Given the description of an element on the screen output the (x, y) to click on. 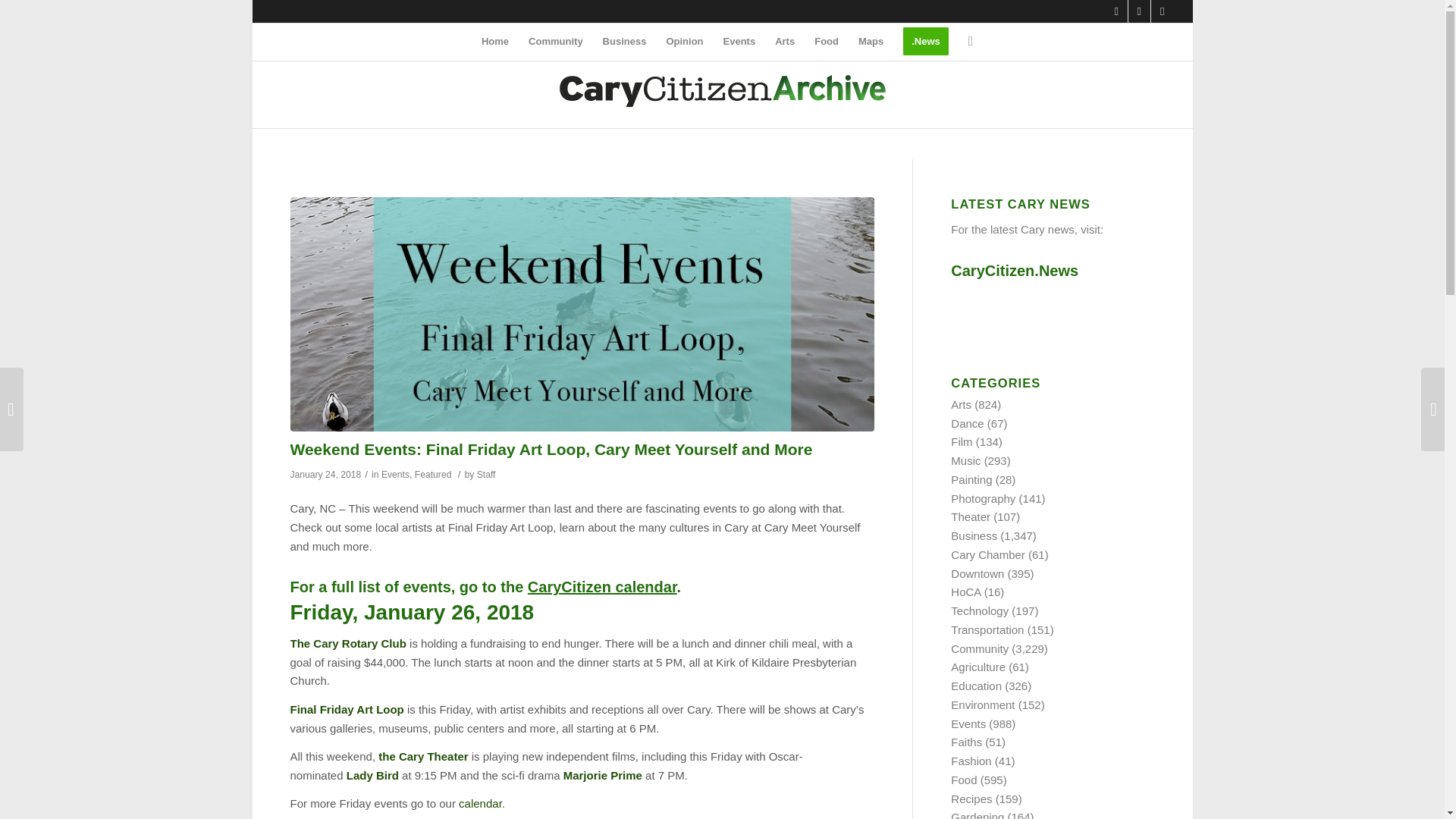
Maps (870, 41)
Arts (785, 41)
Posts by Staff (486, 474)
Business (624, 41)
Home (494, 41)
Events (739, 41)
Opinion (684, 41)
Food (826, 41)
Staff (486, 474)
CaryCitizen calendar (602, 586)
calendar (480, 802)
Featured (432, 474)
